Given the description of an element on the screen output the (x, y) to click on. 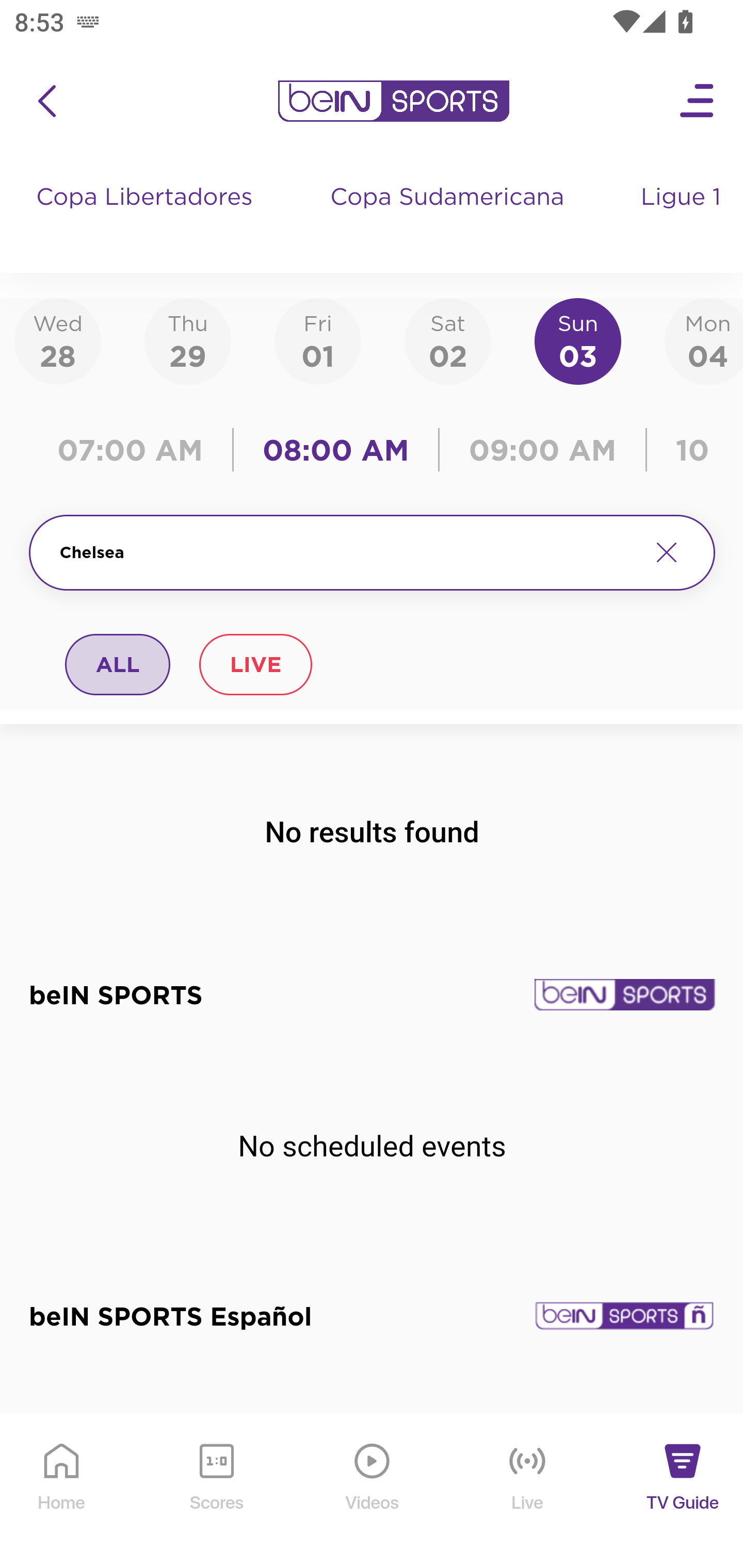
en-us?platform=mobile_android bein logo (392, 101)
icon back (46, 101)
Open Menu Icon (697, 101)
Copa Libertadores (146, 216)
Copa Sudamericana (448, 216)
Ligue 1 (682, 216)
Wed28 (58, 340)
Thu29 (187, 340)
Fri01 (318, 340)
Sat02 (447, 340)
Sun03 (578, 340)
Mon04 (703, 340)
07:00 AM (135, 449)
08:00 AM (336, 449)
09:00 AM (542, 449)
Chelsea (346, 552)
ALL (118, 663)
LIVE (255, 663)
Home Home Icon Home (61, 1491)
Scores Scores Icon Scores (216, 1491)
Videos Videos Icon Videos (372, 1491)
TV Guide TV Guide Icon TV Guide (682, 1491)
